Given the description of an element on the screen output the (x, y) to click on. 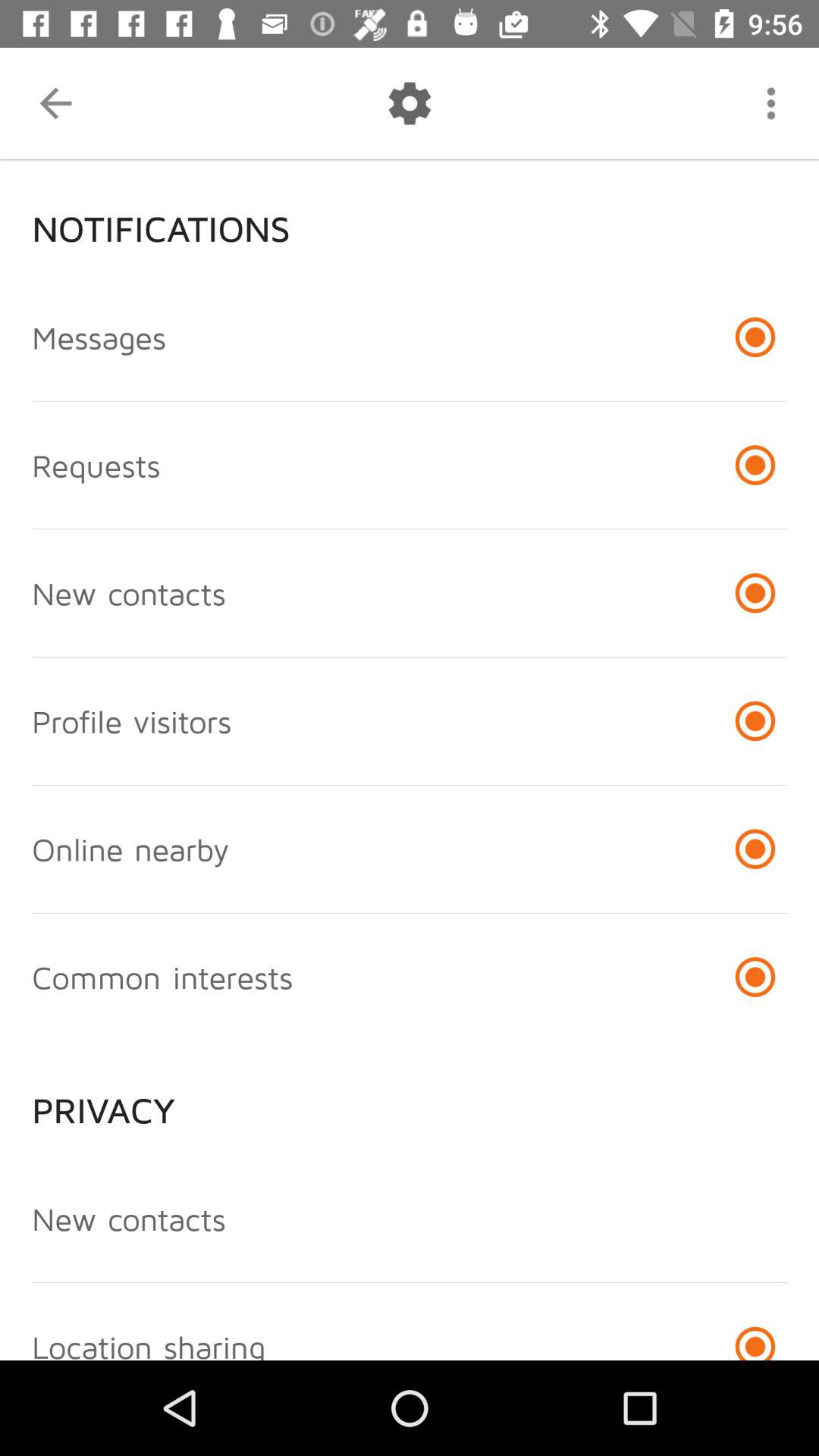
open the icon below notifications (98, 336)
